Given the description of an element on the screen output the (x, y) to click on. 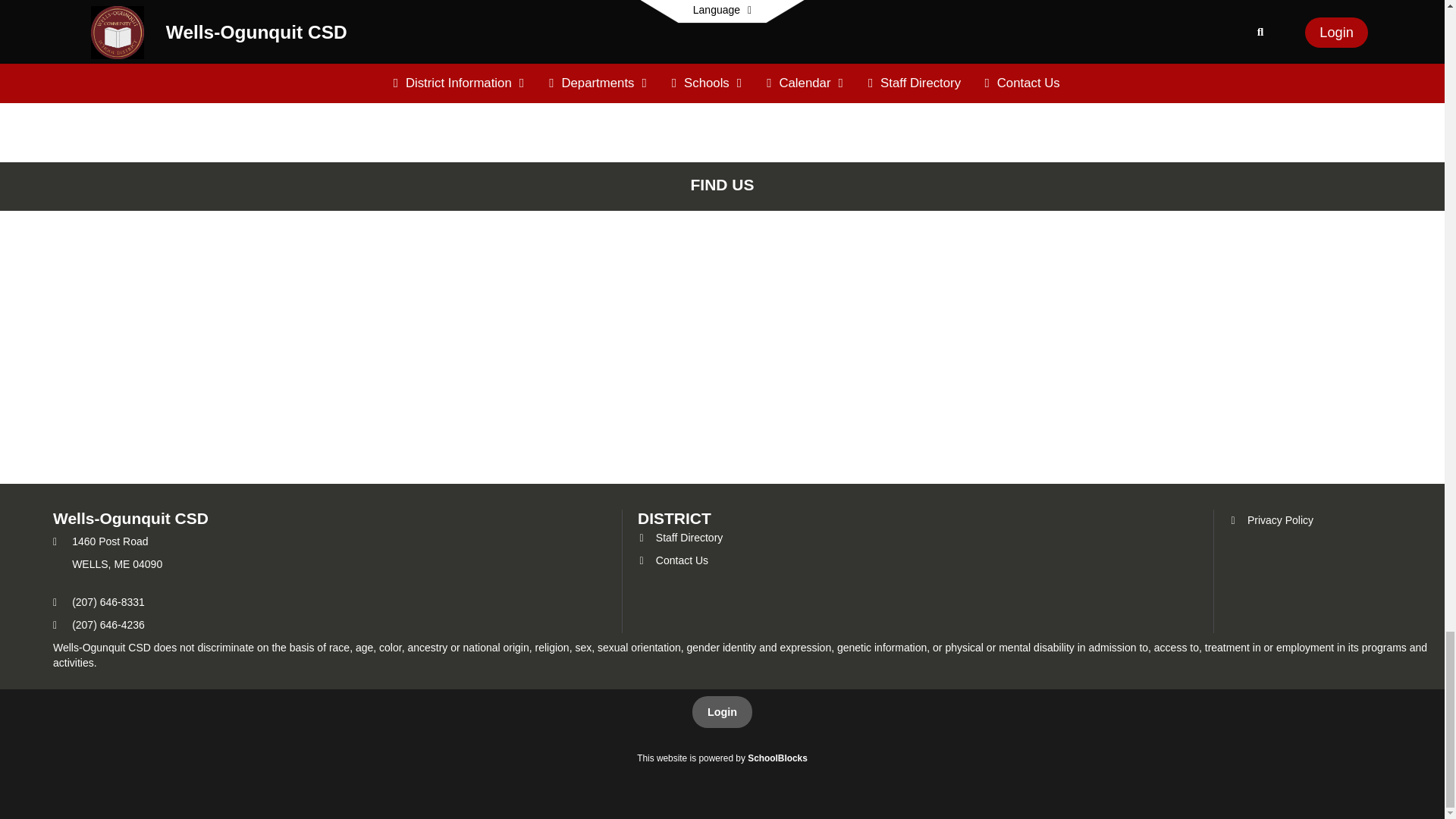
Contact Us (672, 560)
Staff Directory (679, 537)
Privacy Policy (1270, 520)
